Given the description of an element on the screen output the (x, y) to click on. 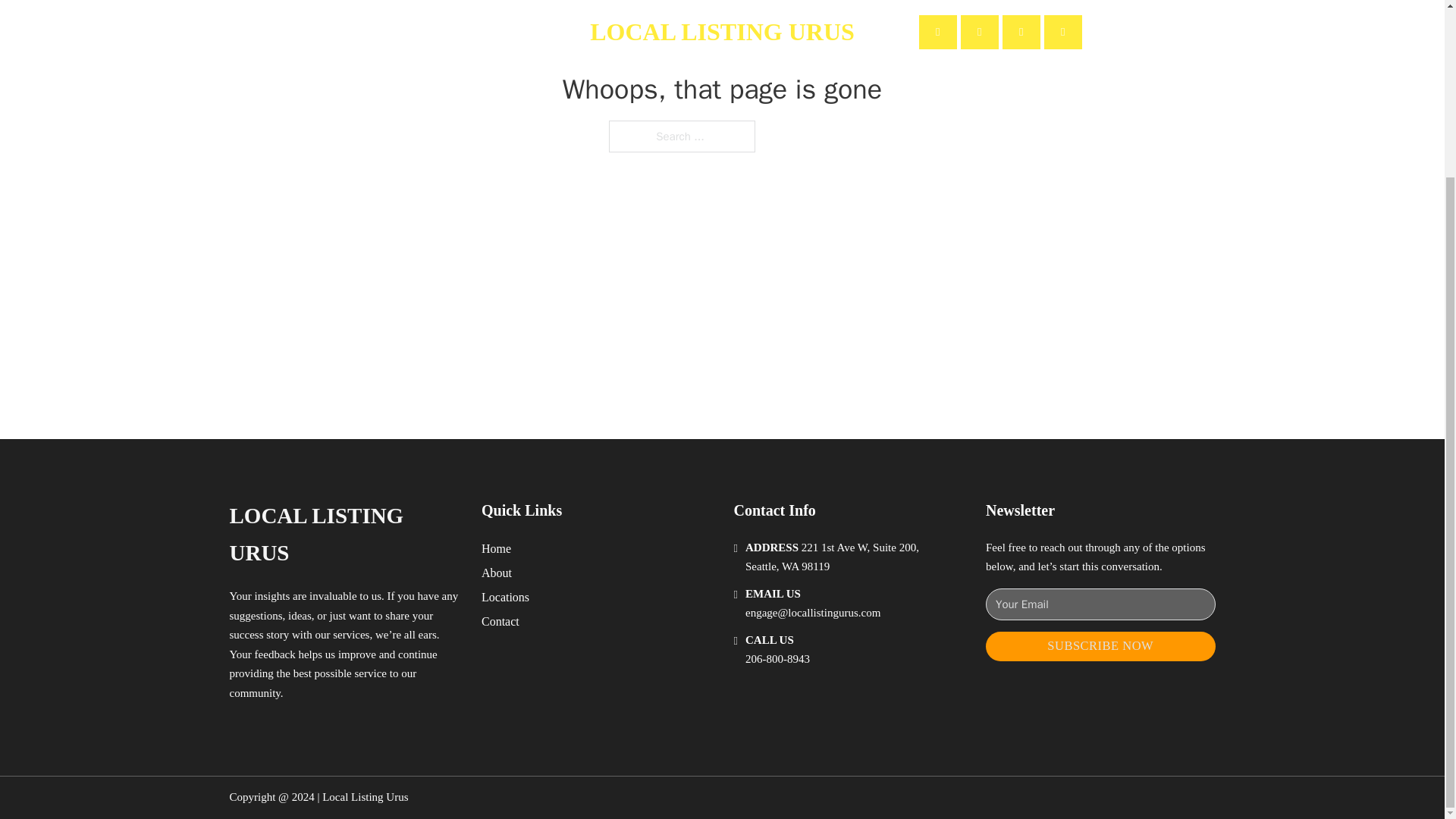
LOCAL LISTING URUS (343, 534)
SUBSCRIBE NOW (1100, 645)
Locations (505, 597)
Contact (500, 620)
About (496, 572)
Home (496, 548)
206-800-8943 (777, 658)
